Given the description of an element on the screen output the (x, y) to click on. 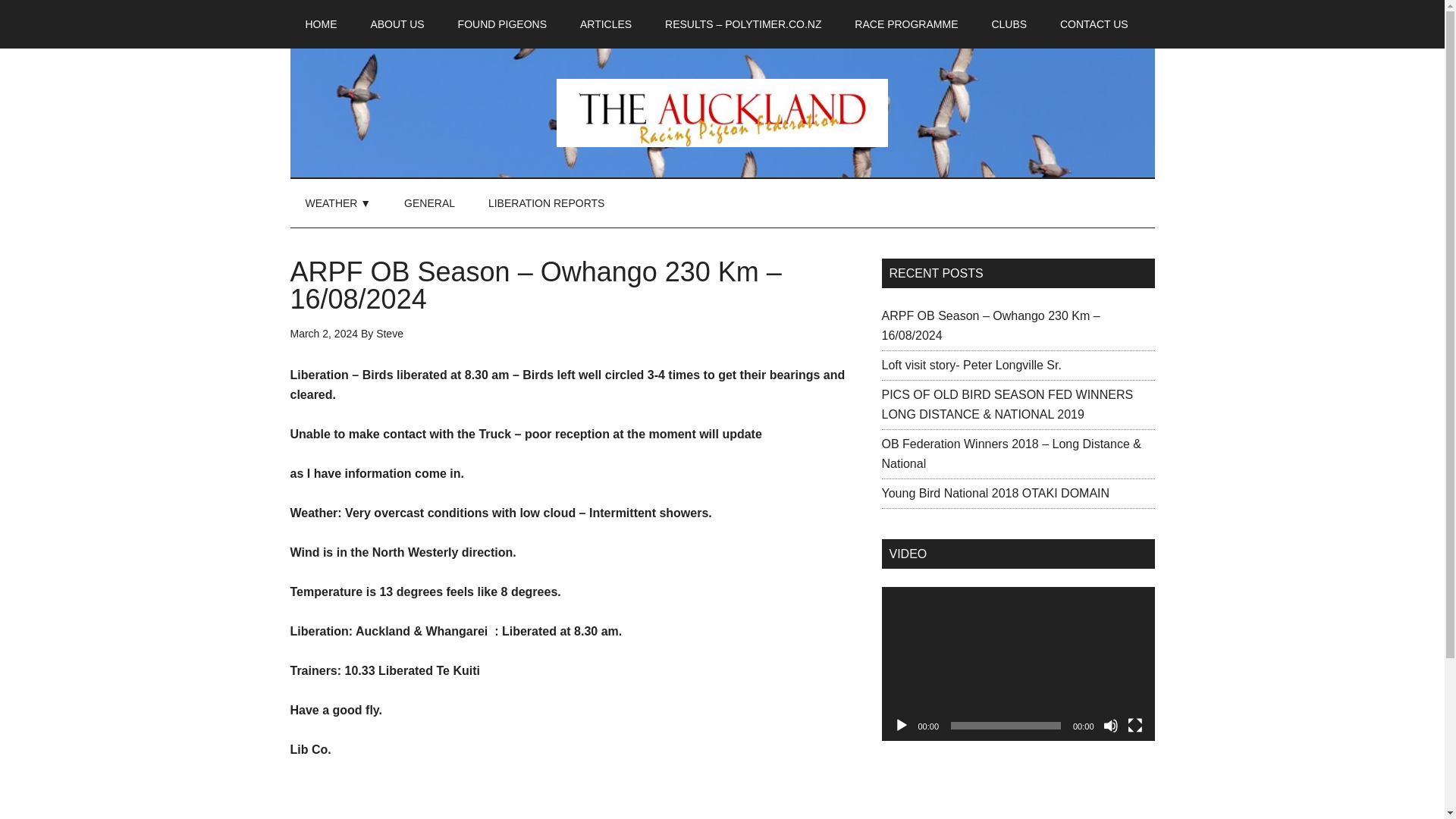
CONTACT US (1093, 24)
Steve (389, 333)
ARTICLES (605, 24)
CLUBS (1008, 24)
Fullscreen (1133, 725)
HOME (320, 24)
RACE PROGRAMME (906, 24)
Play (900, 725)
Young Bird National 2018 OTAKI DOMAIN (994, 492)
GENERAL (429, 203)
